Given the description of an element on the screen output the (x, y) to click on. 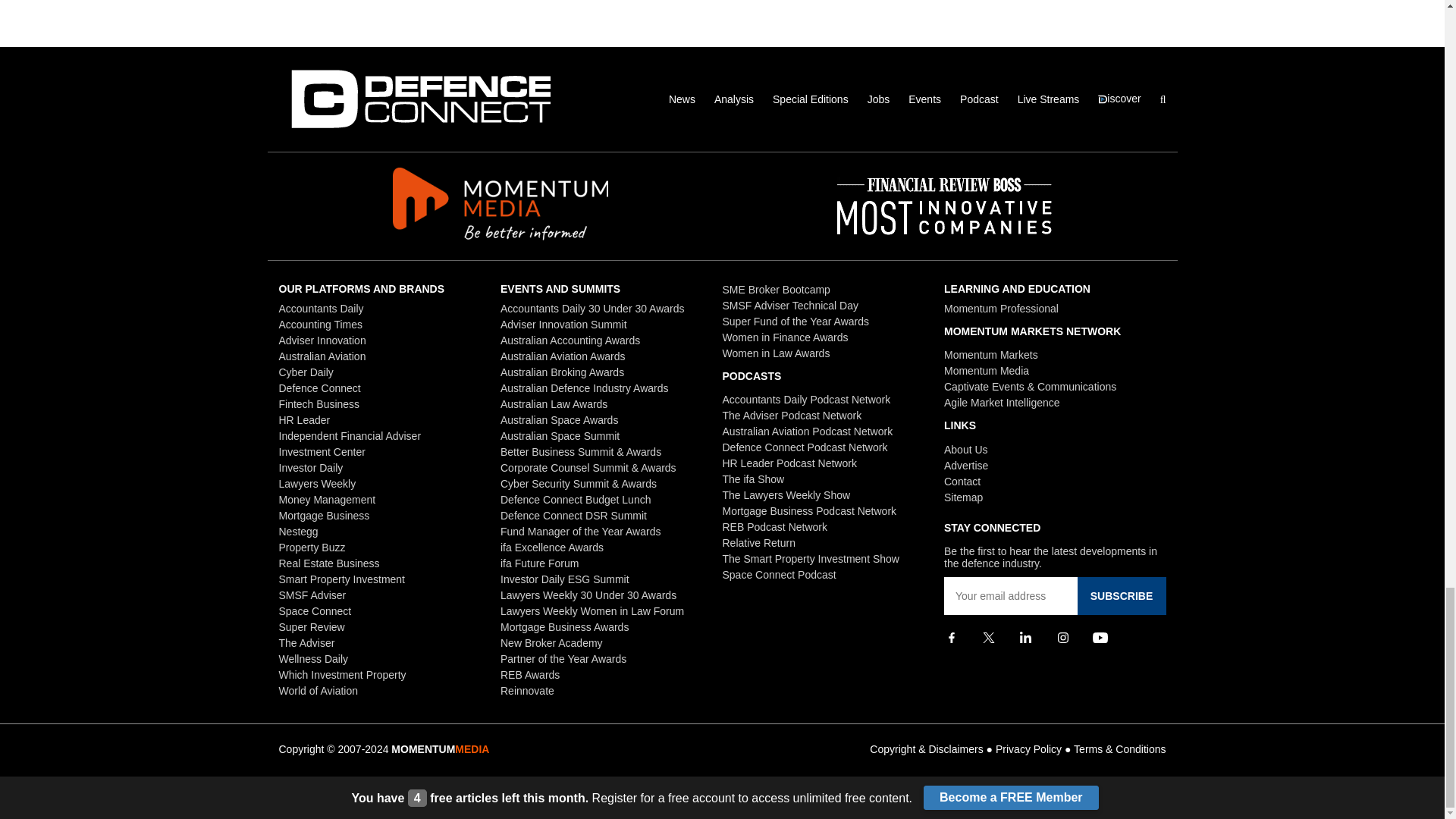
SUBSCRIBE (1121, 596)
